Given the description of an element on the screen output the (x, y) to click on. 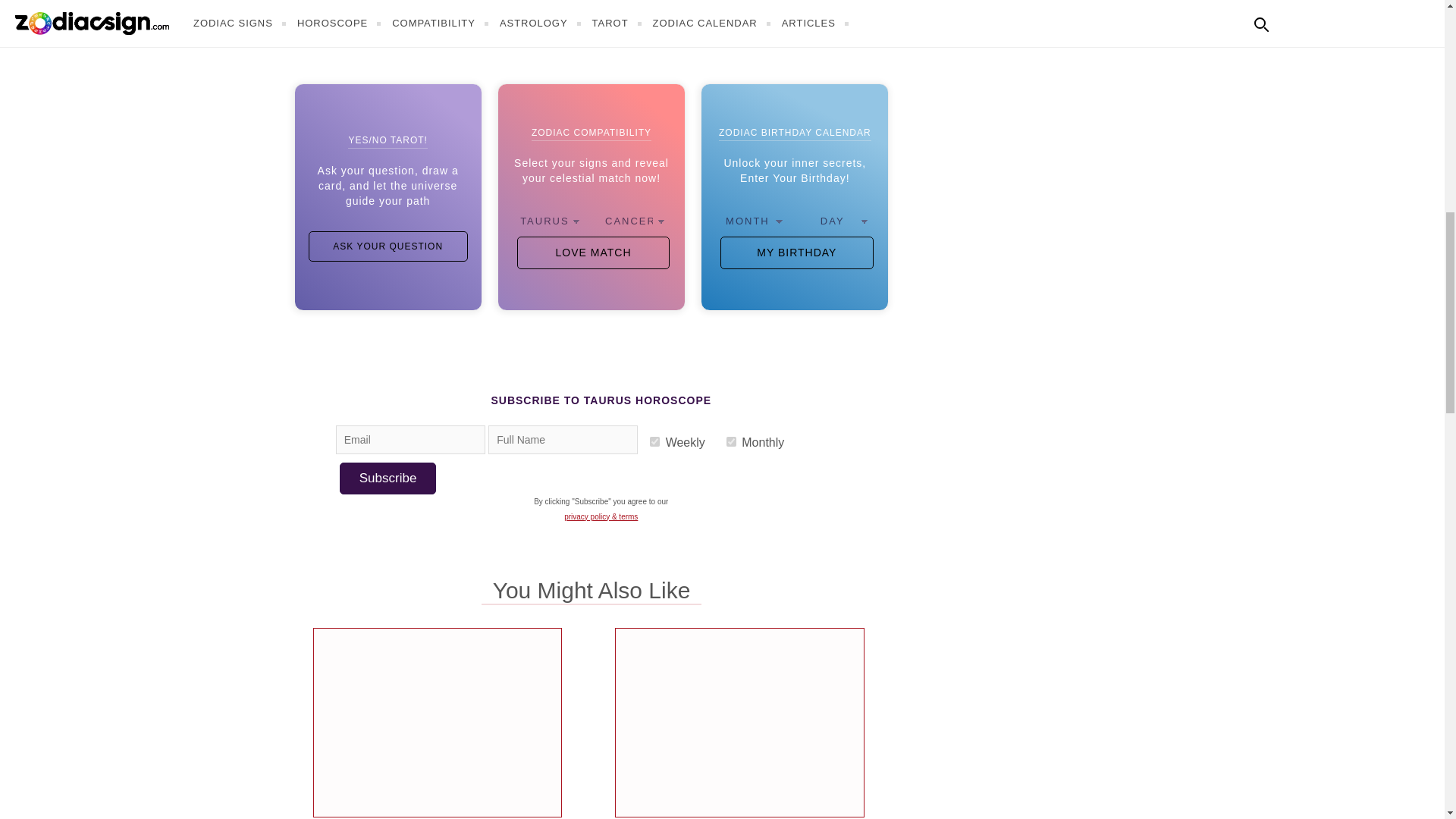
weekly (654, 441)
monthly (731, 441)
